Given the description of an element on the screen output the (x, y) to click on. 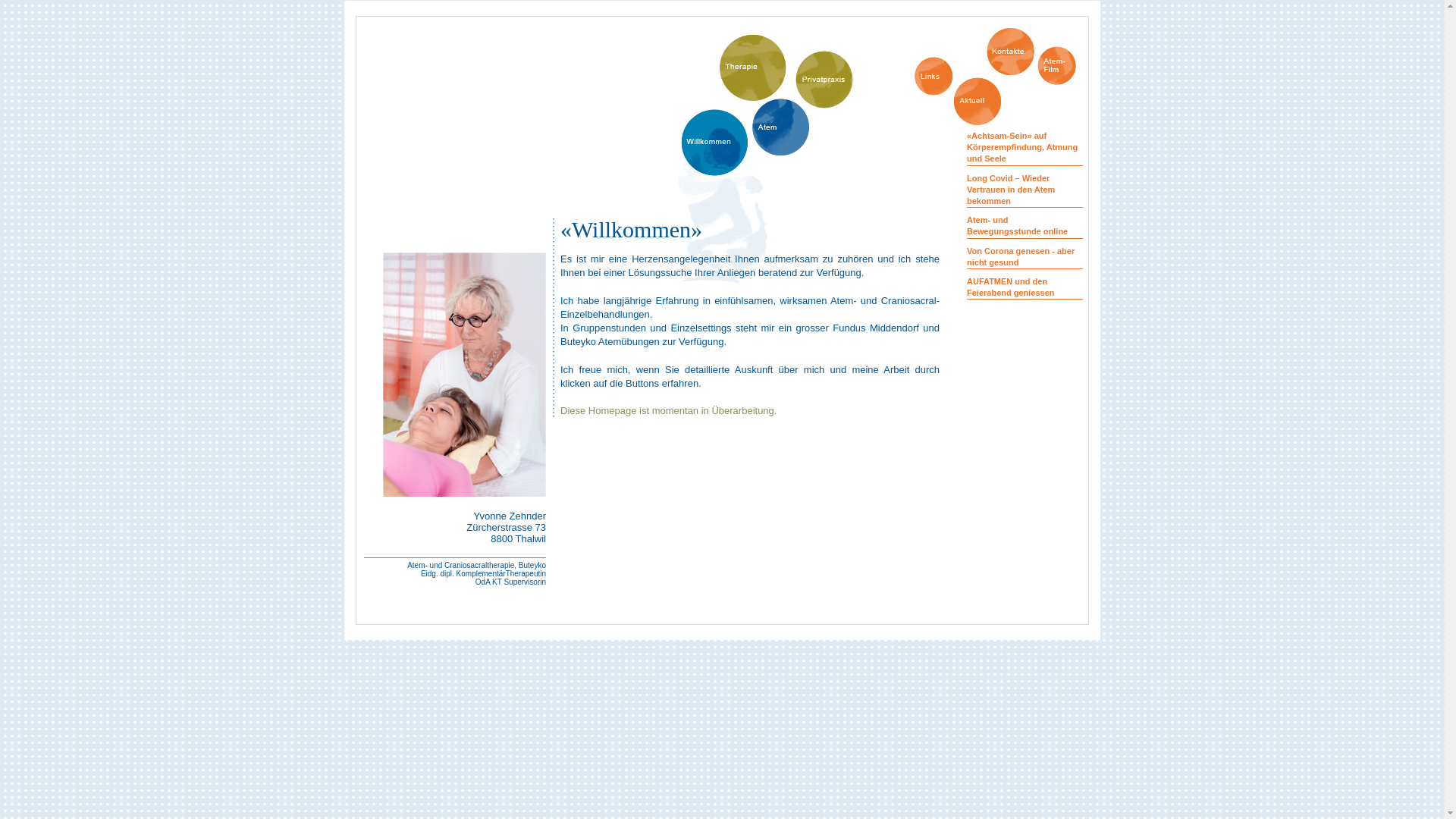
Willkommen Element type: text (713, 142)
AUFATMEN und den Feierabend geniessen Element type: text (1010, 286)
Privatpraxis Element type: text (824, 79)
Atem-Film Element type: text (1056, 65)
Aktuell Element type: text (977, 101)
Von Corona genesen - aber nicht gesund Element type: text (1020, 255)
Links Element type: text (933, 75)
Therapie Element type: text (752, 67)
Atem- und Bewegungsstunde online Element type: text (1016, 225)
Atem Element type: text (780, 127)
Kontakte Element type: text (1010, 51)
